Given the description of an element on the screen output the (x, y) to click on. 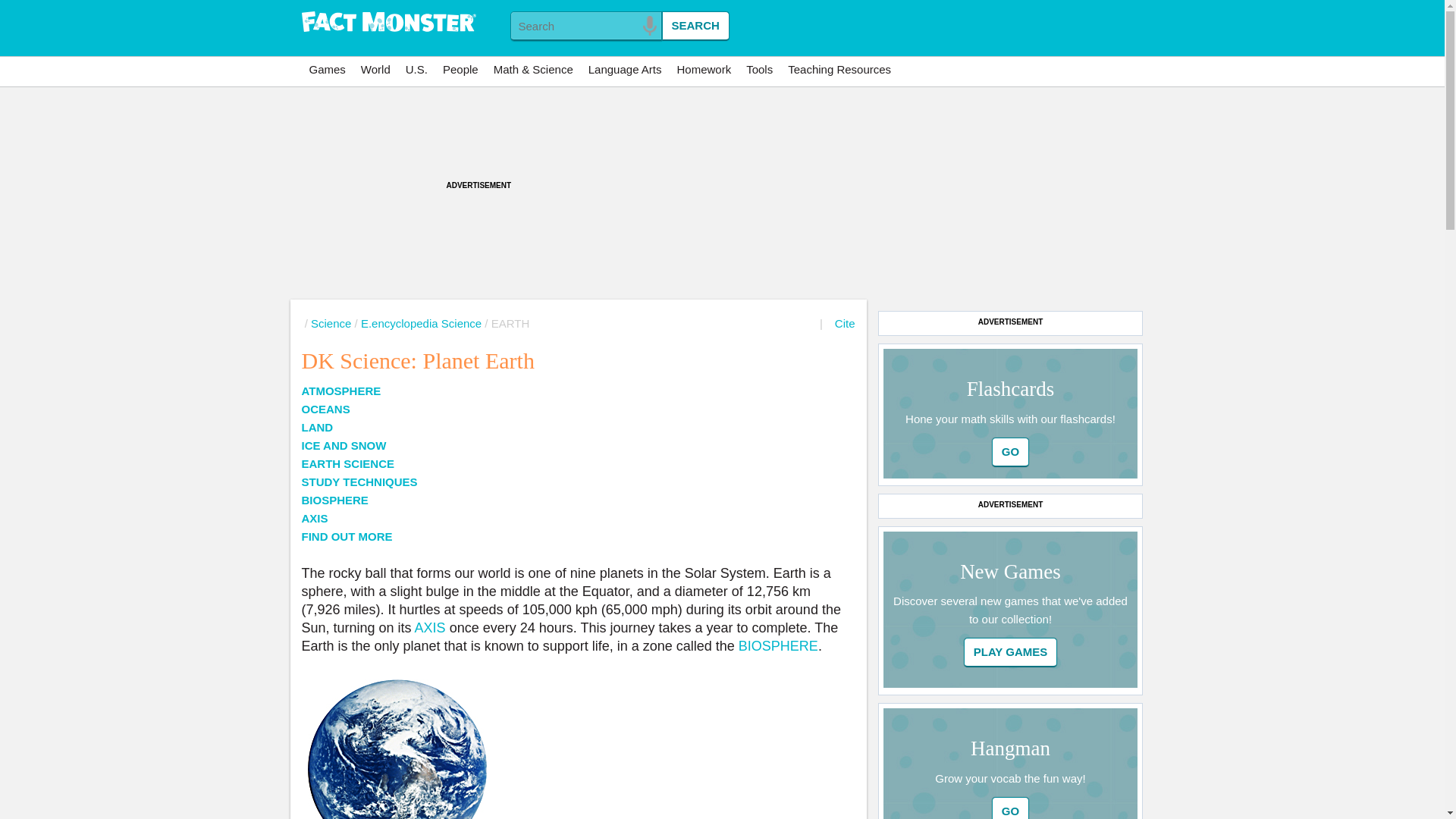
Search (695, 25)
Go (1010, 451)
Go (1010, 807)
BIOSPHERE (776, 645)
AXIS (428, 627)
Go (1010, 451)
Enter the terms you wish to search for. (585, 25)
Search (695, 25)
Games (327, 69)
Go (1010, 807)
